Given the description of an element on the screen output the (x, y) to click on. 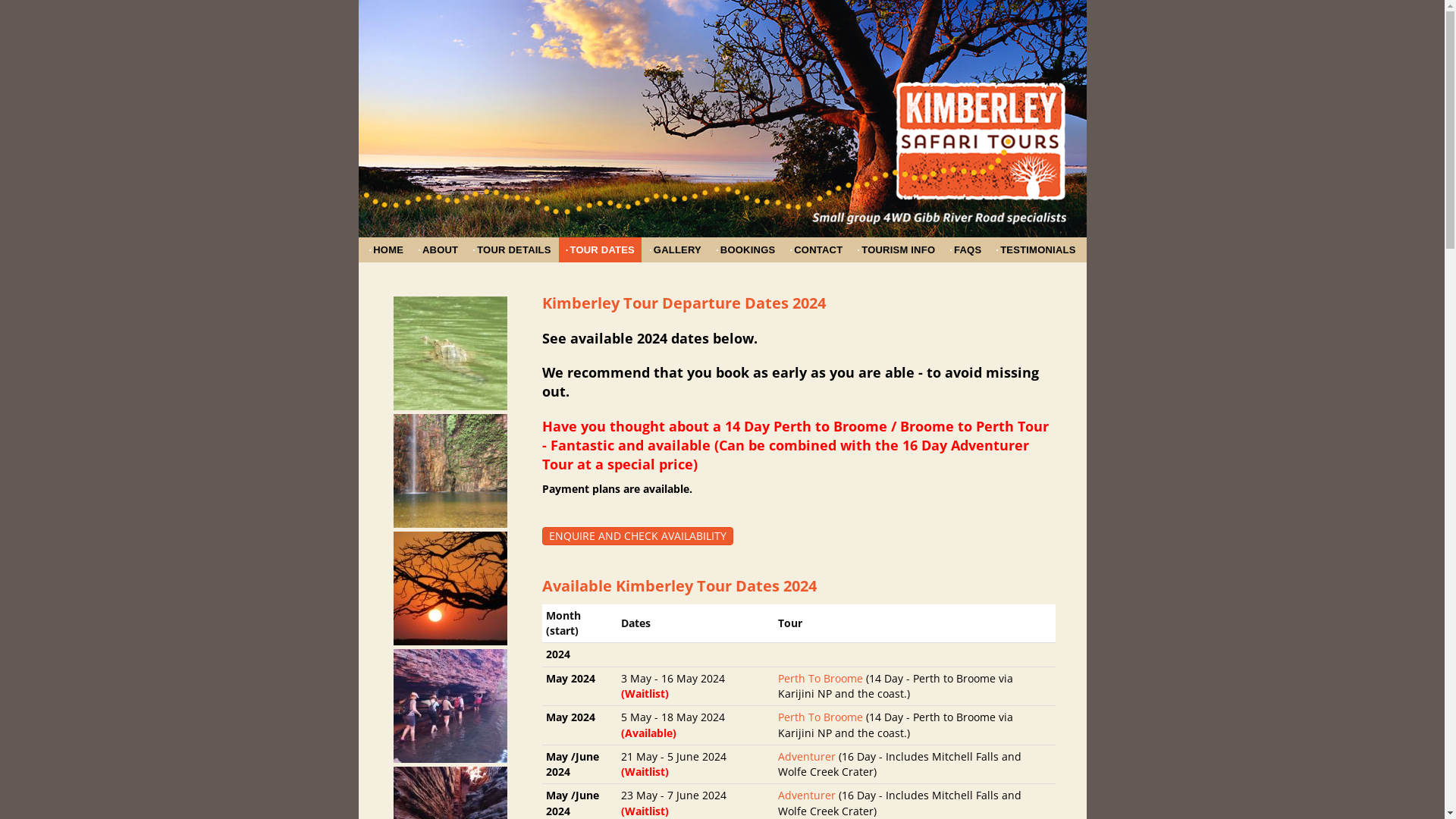
Fresh Water Croc Element type: hover (449, 353)
GALLERY Element type: text (675, 249)
HOME Element type: text (385, 249)
BOOKINGS Element type: text (745, 249)
Perth To Broome Element type: text (820, 716)
Adventurer Element type: text (806, 756)
Perth To Broome Element type: text (820, 678)
Kimberley Safari Tours Element type: hover (721, 152)
CONTACT Element type: text (815, 249)
FAQS Element type: text (965, 249)
Adventurer Element type: text (806, 794)
ABOUT Element type: text (437, 249)
TESTIMONIALS Element type: text (1035, 249)
TOURISM INFO Element type: text (895, 249)
TOUR DETAILS Element type: text (511, 249)
Gorge hiking Element type: hover (449, 705)
Sun Element type: hover (449, 588)
TOUR DATES Element type: text (599, 249)
ENQUIRE AND CHECK AVAILABILITY Element type: text (637, 536)
